Given the description of an element on the screen output the (x, y) to click on. 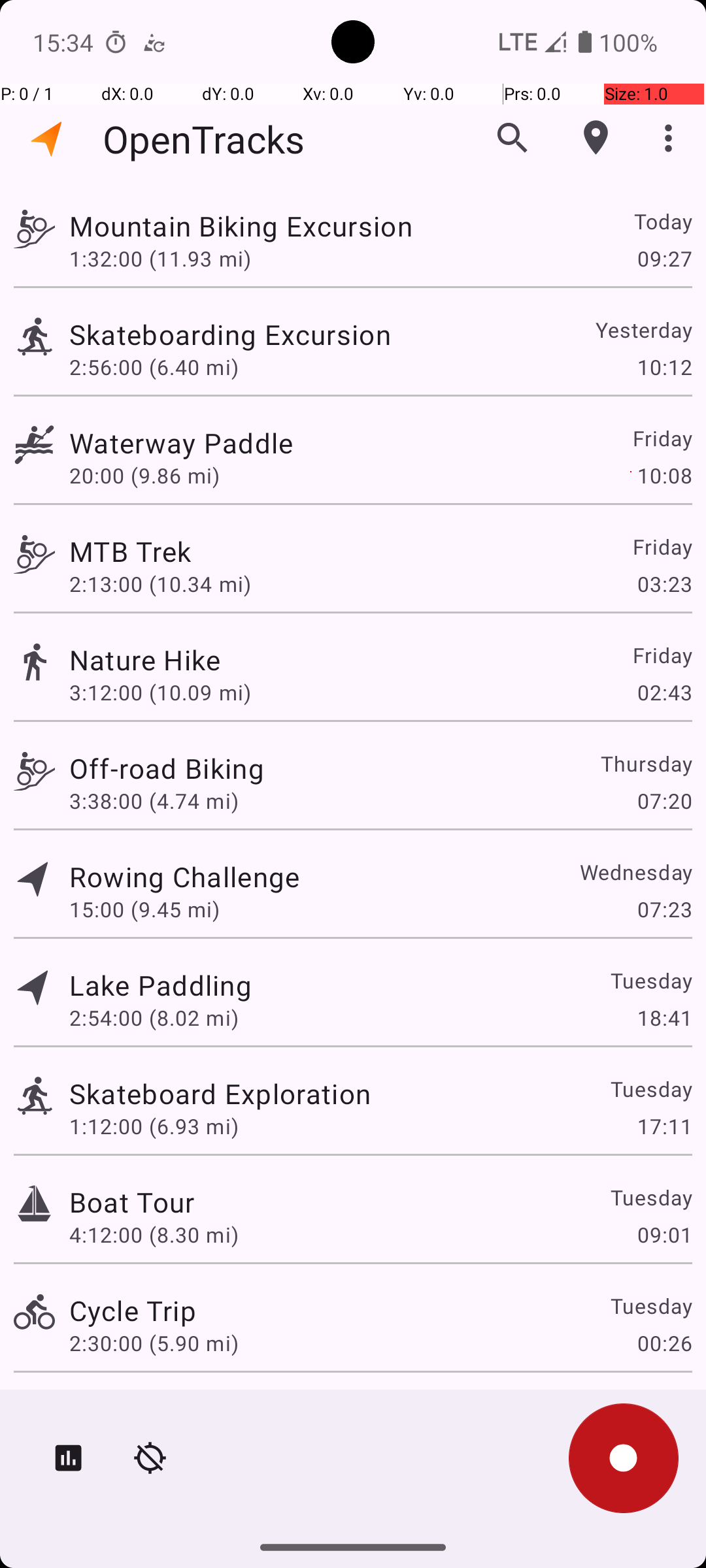
Mountain Biking Excursion Element type: android.widget.TextView (240, 225)
1:32:00 (11.93 mi) Element type: android.widget.TextView (159, 258)
09:27 Element type: android.widget.TextView (664, 258)
Skateboarding Excursion Element type: android.widget.TextView (229, 333)
2:56:00 (6.40 mi) Element type: android.widget.TextView (153, 366)
10:12 Element type: android.widget.TextView (664, 366)
Waterway Paddle Element type: android.widget.TextView (180, 442)
20:00 (9.86 mi) Element type: android.widget.TextView (144, 475)
10:08 Element type: android.widget.TextView (664, 475)
MTB Trek Element type: android.widget.TextView (129, 550)
2:13:00 (10.34 mi) Element type: android.widget.TextView (159, 583)
03:23 Element type: android.widget.TextView (664, 583)
Nature Hike Element type: android.widget.TextView (144, 659)
3:12:00 (10.09 mi) Element type: android.widget.TextView (159, 692)
02:43 Element type: android.widget.TextView (664, 692)
Off-road Biking Element type: android.widget.TextView (166, 767)
3:38:00 (4.74 mi) Element type: android.widget.TextView (153, 800)
07:20 Element type: android.widget.TextView (664, 800)
Rowing Challenge Element type: android.widget.TextView (184, 876)
15:00 (9.45 mi) Element type: android.widget.TextView (144, 909)
07:23 Element type: android.widget.TextView (664, 909)
Lake Paddling Element type: android.widget.TextView (160, 984)
2:54:00 (8.02 mi) Element type: android.widget.TextView (153, 1017)
18:41 Element type: android.widget.TextView (664, 1017)
Skateboard Exploration Element type: android.widget.TextView (219, 1092)
1:12:00 (6.93 mi) Element type: android.widget.TextView (153, 1125)
17:11 Element type: android.widget.TextView (664, 1125)
Boat Tour Element type: android.widget.TextView (131, 1201)
4:12:00 (8.30 mi) Element type: android.widget.TextView (153, 1234)
09:01 Element type: android.widget.TextView (664, 1234)
Cycle Trip Element type: android.widget.TextView (132, 1309)
2:30:00 (5.90 mi) Element type: android.widget.TextView (153, 1342)
00:26 Element type: android.widget.TextView (664, 1342)
Off-road Cycling Element type: android.widget.TextView (173, 1408)
